Given the description of an element on the screen output the (x, y) to click on. 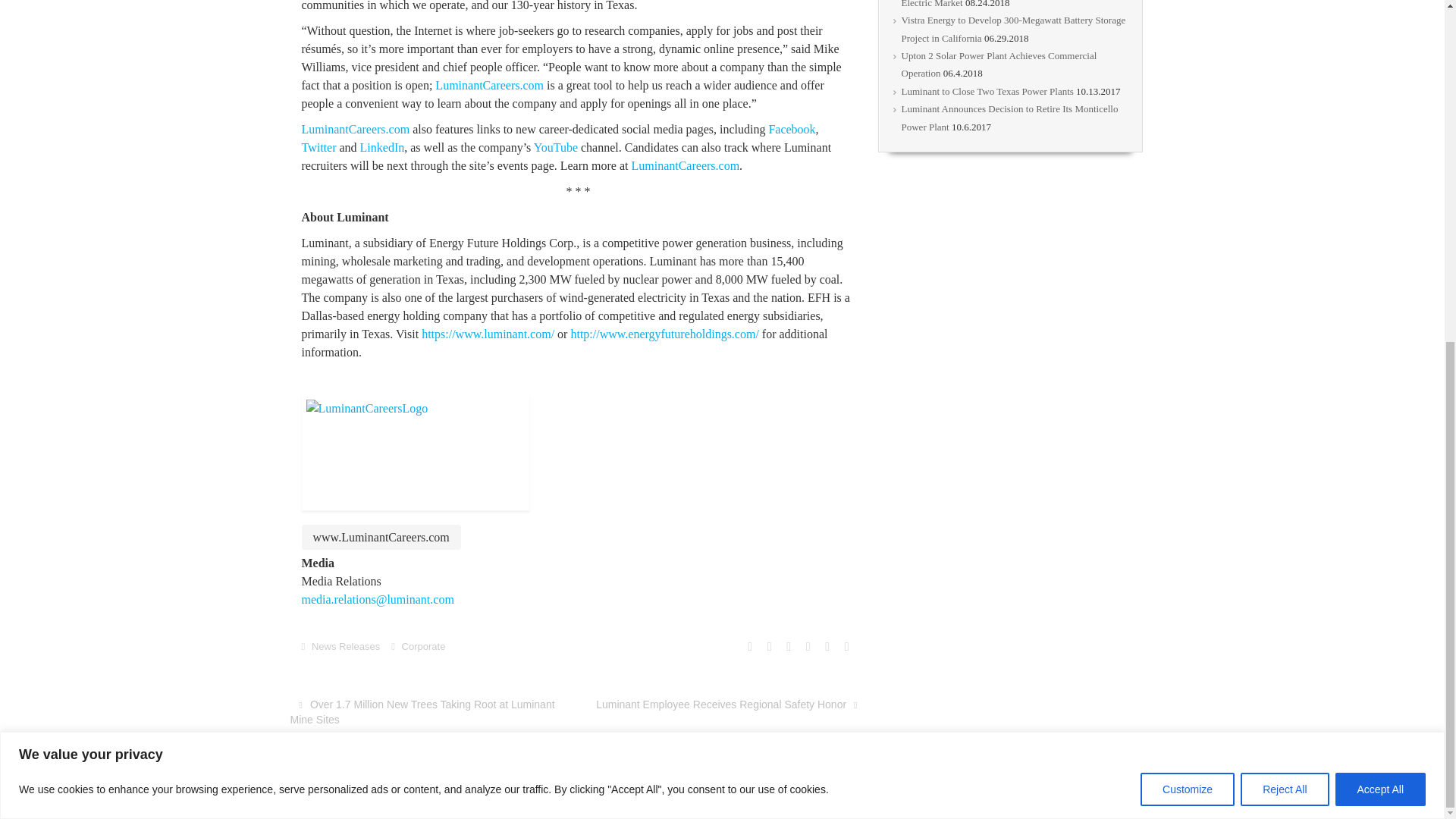
LinkedIn (381, 146)
LuminantCareers.com (489, 84)
Twitter (318, 146)
Customize (1187, 206)
LuminantCareers.com (355, 128)
YouTube (556, 146)
Accept All (1380, 206)
Reject All (1283, 206)
Facebook (791, 128)
